Given the description of an element on the screen output the (x, y) to click on. 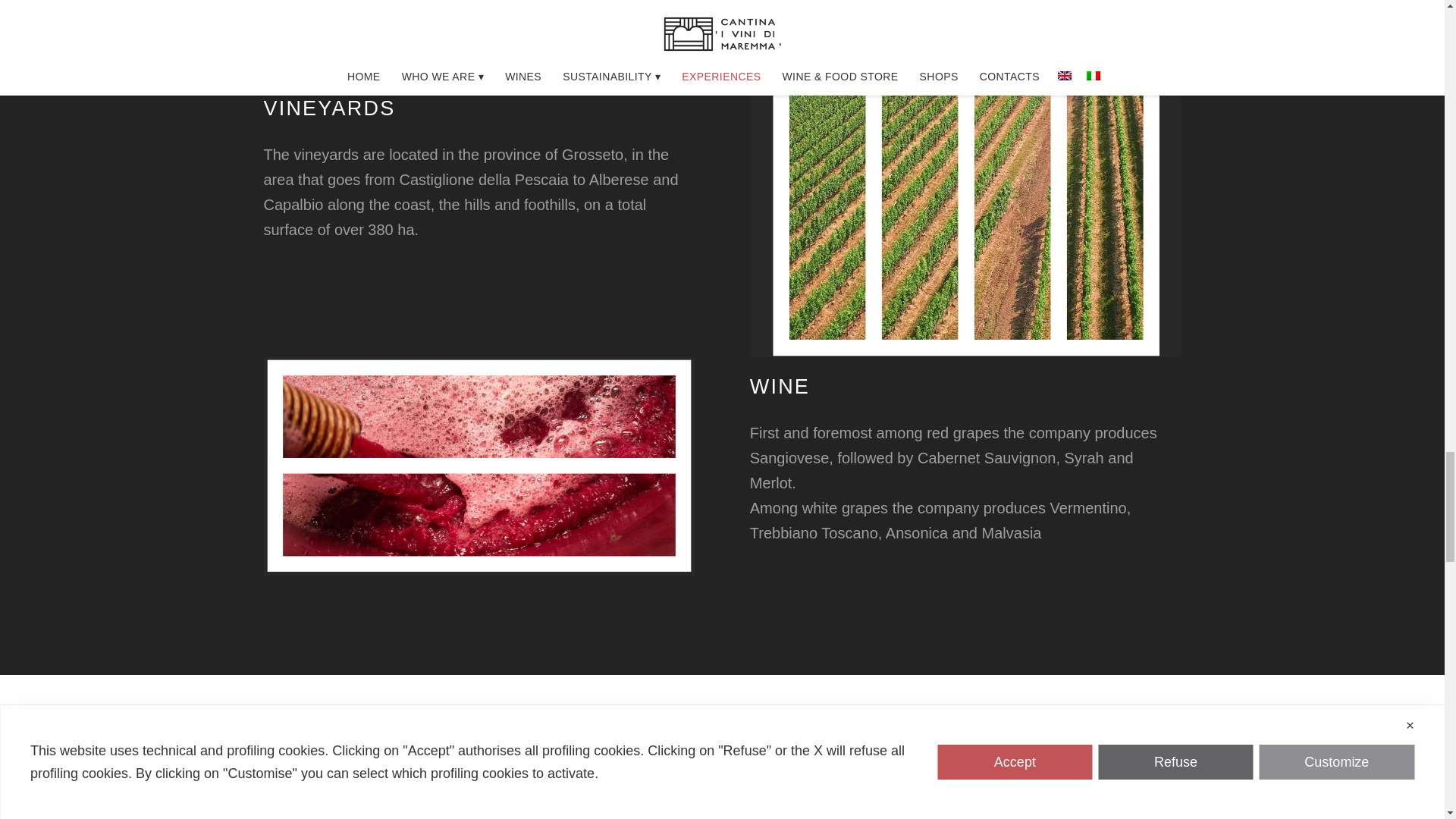
cantine-vini-maremma-azienda-bio (479, 466)
